Given the description of an element on the screen output the (x, y) to click on. 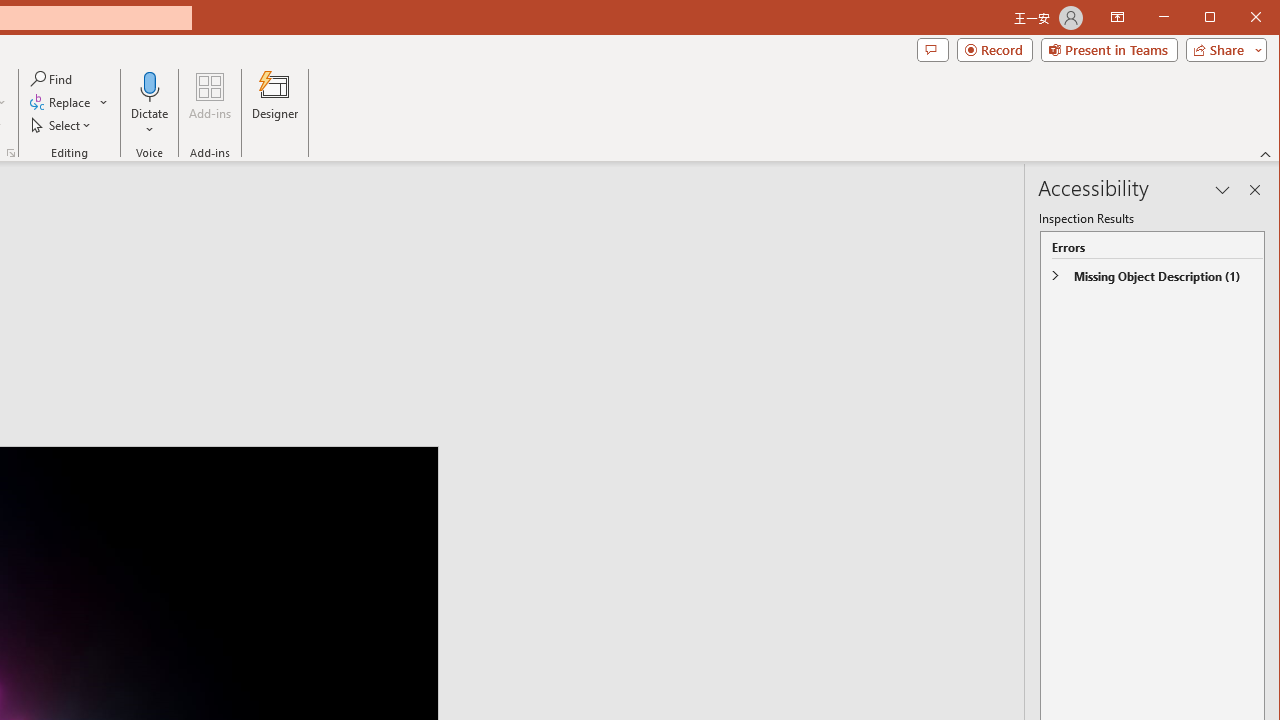
Format Object... (10, 152)
Select (62, 124)
